Given the description of an element on the screen output the (x, y) to click on. 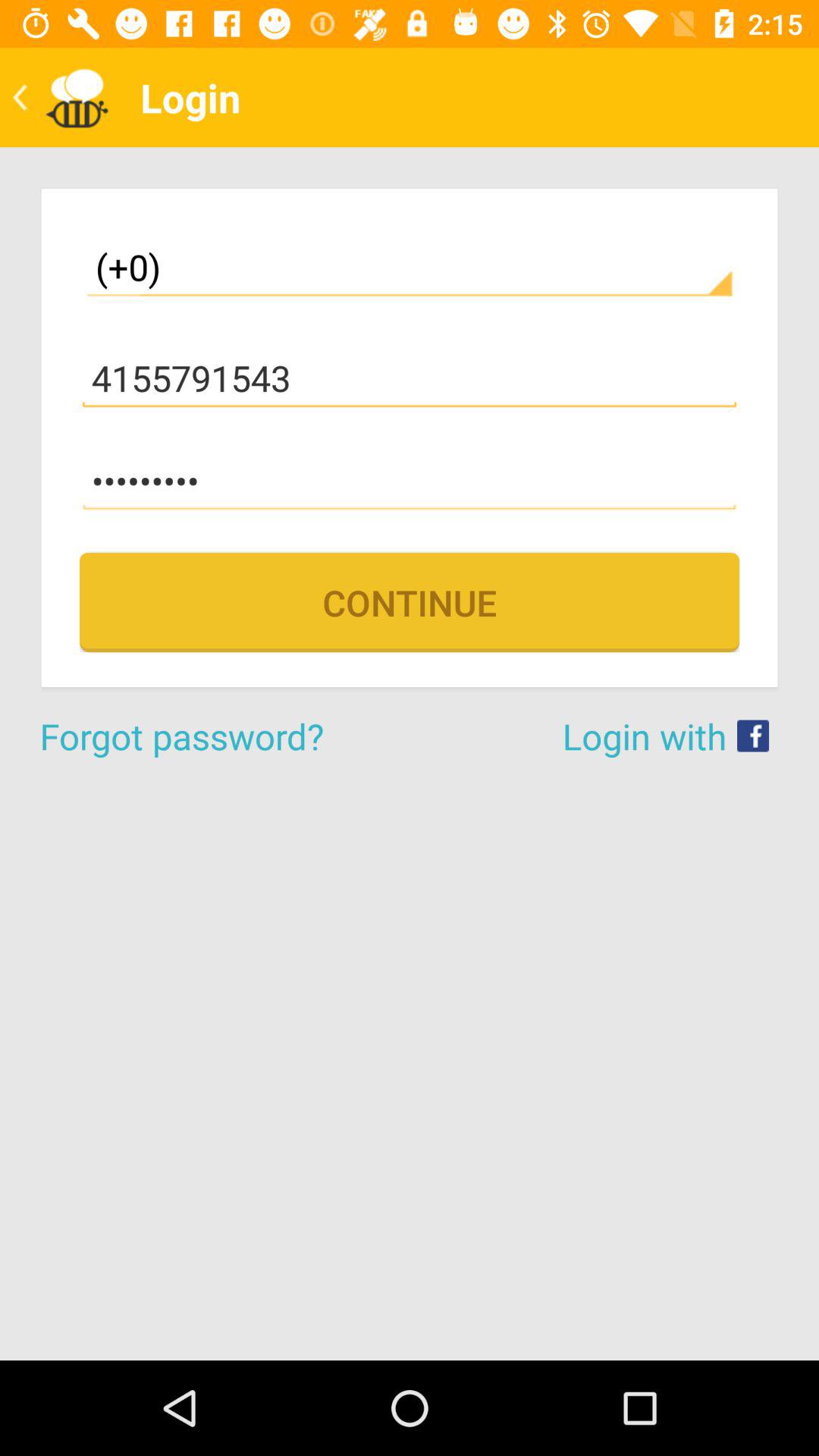
turn on icon above the forgot password? (409, 602)
